Given the description of an element on the screen output the (x, y) to click on. 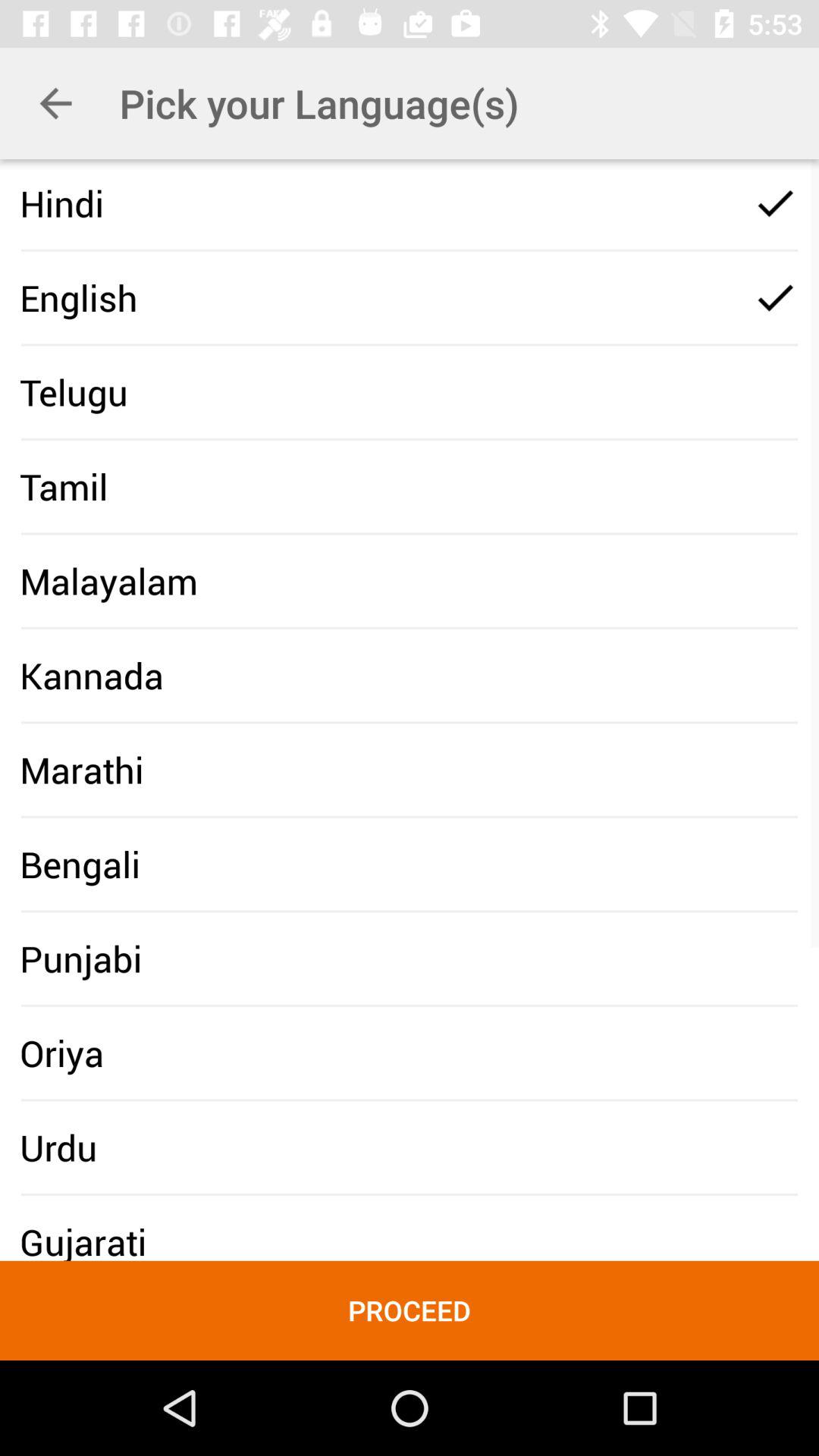
swipe to the urdu item (58, 1147)
